Given the description of an element on the screen output the (x, y) to click on. 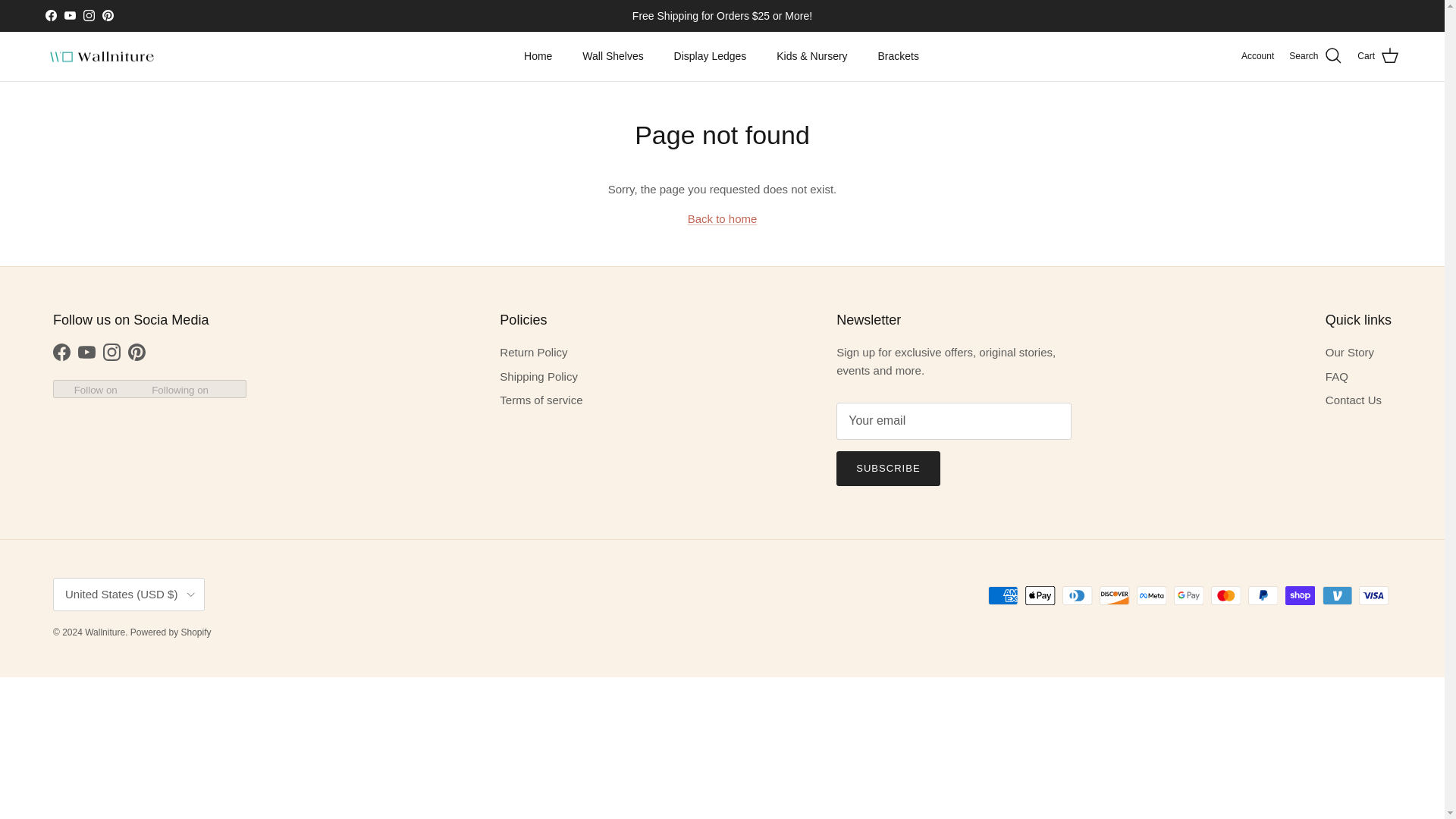
Wallniture on Instagram (88, 15)
Wallniture on Pinterest (107, 15)
PayPal (1262, 595)
Search (1315, 55)
Account (1257, 56)
Instagram (88, 15)
Wallniture on Facebook (60, 352)
Cart (1377, 55)
Apple Pay (1040, 595)
Wallniture on Pinterest (136, 352)
